Given the description of an element on the screen output the (x, y) to click on. 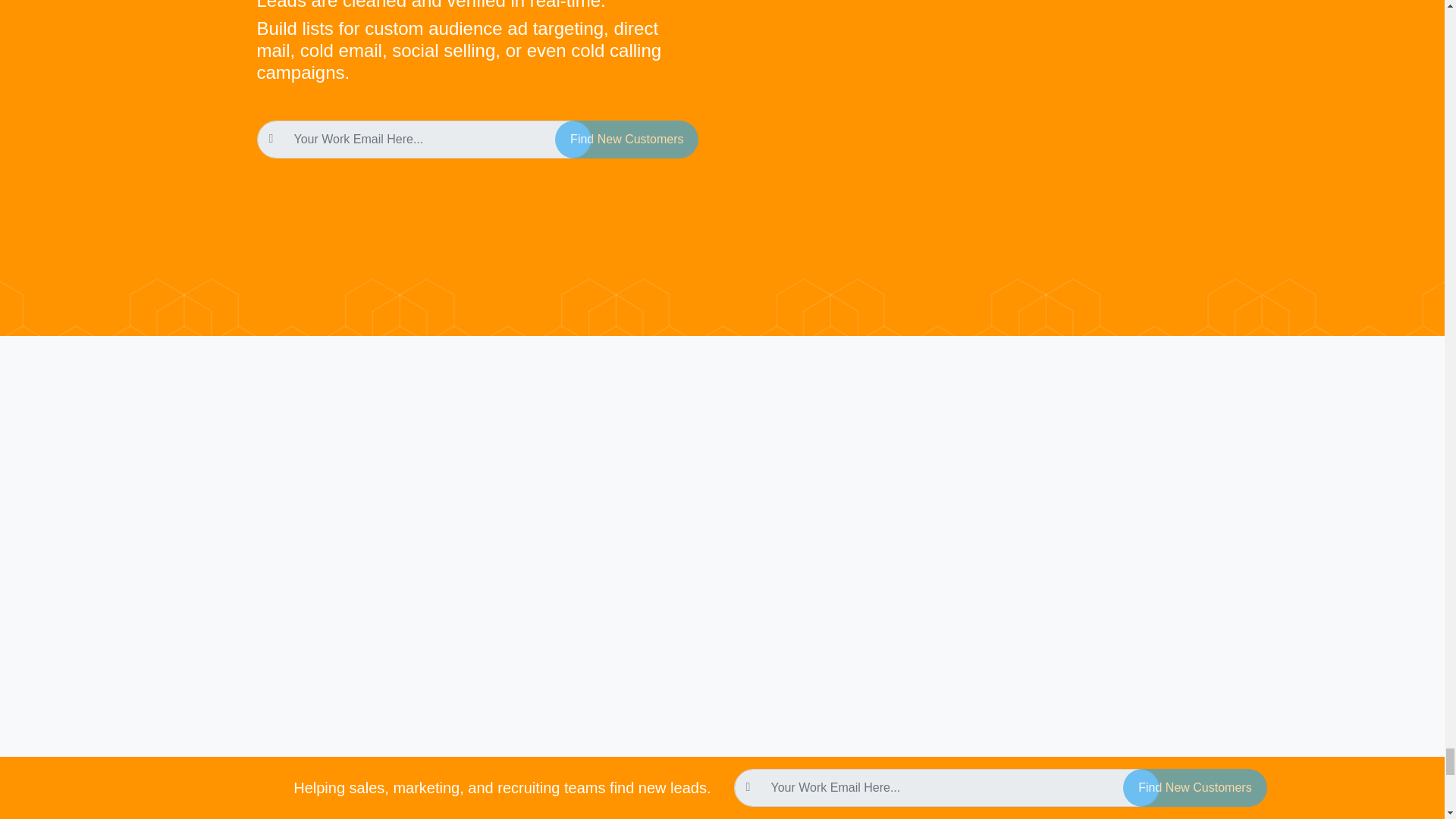
Find New Customers (626, 139)
